Given the description of an element on the screen output the (x, y) to click on. 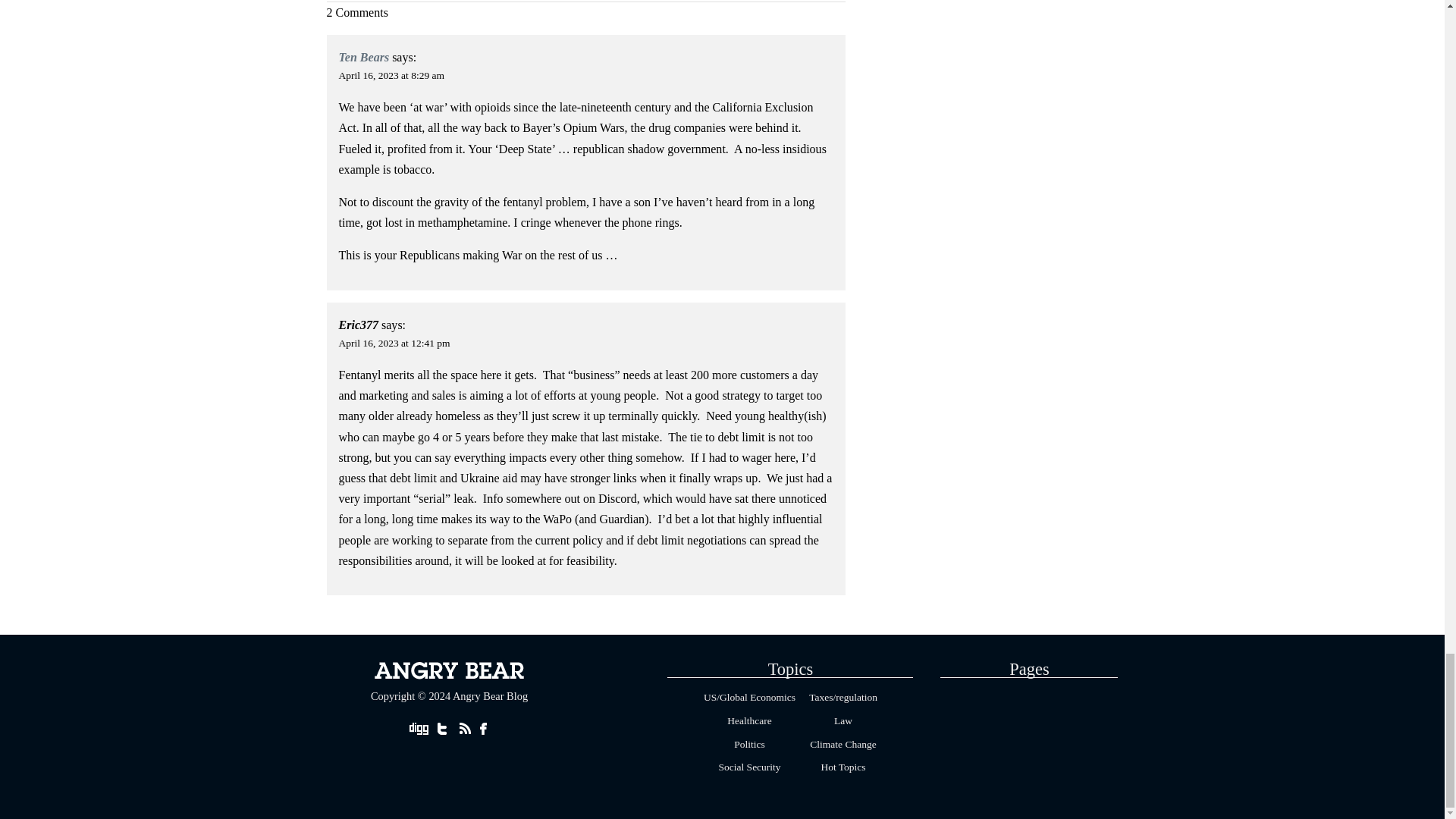
April 16, 2023 at 8:29 am (391, 75)
April 16, 2023 at 12:41 pm (394, 342)
Ten Bears (364, 56)
